Given the description of an element on the screen output the (x, y) to click on. 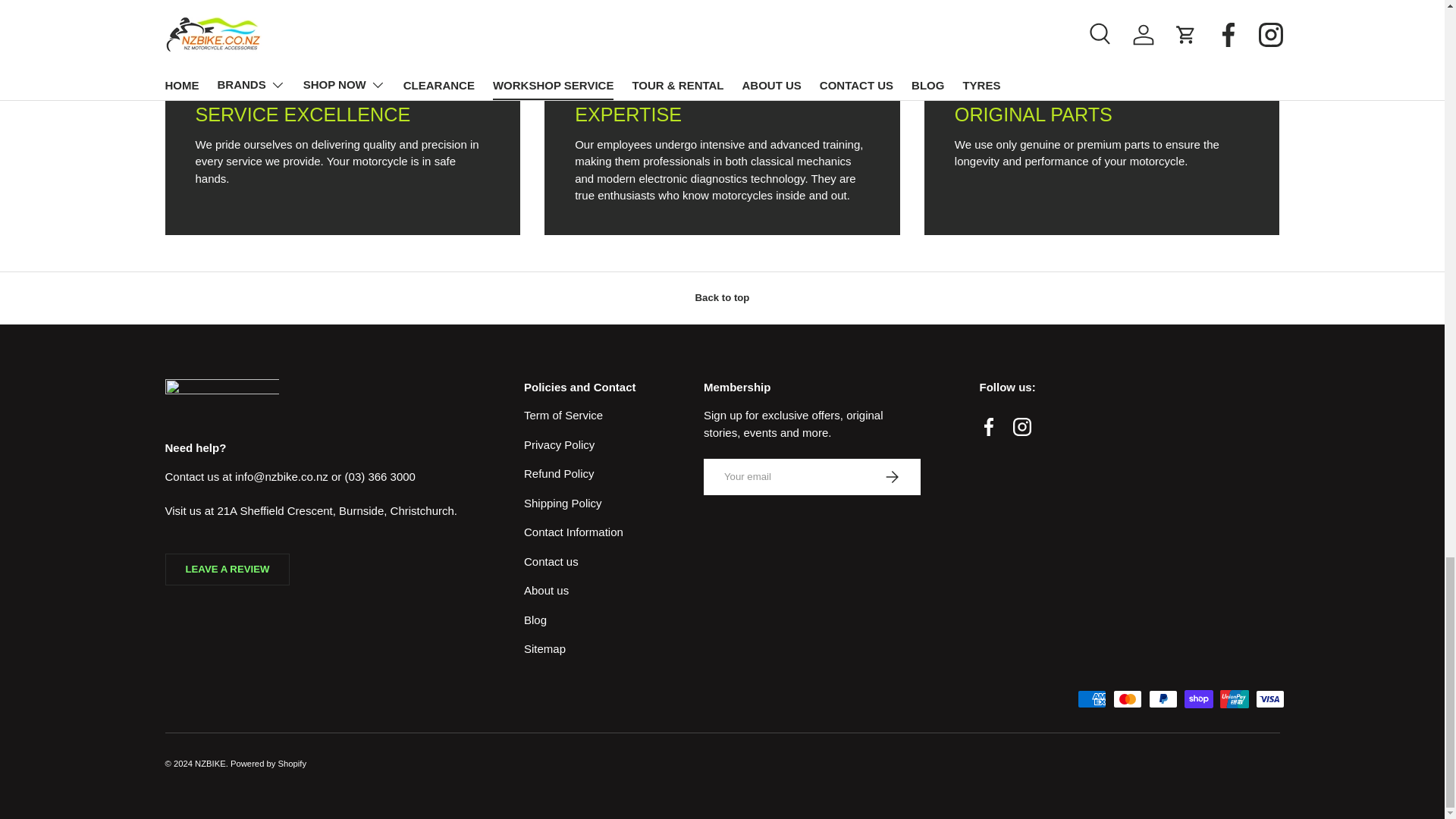
21A Sheffield Crescent, Burnside, Christchurch (334, 510)
